Given the description of an element on the screen output the (x, y) to click on. 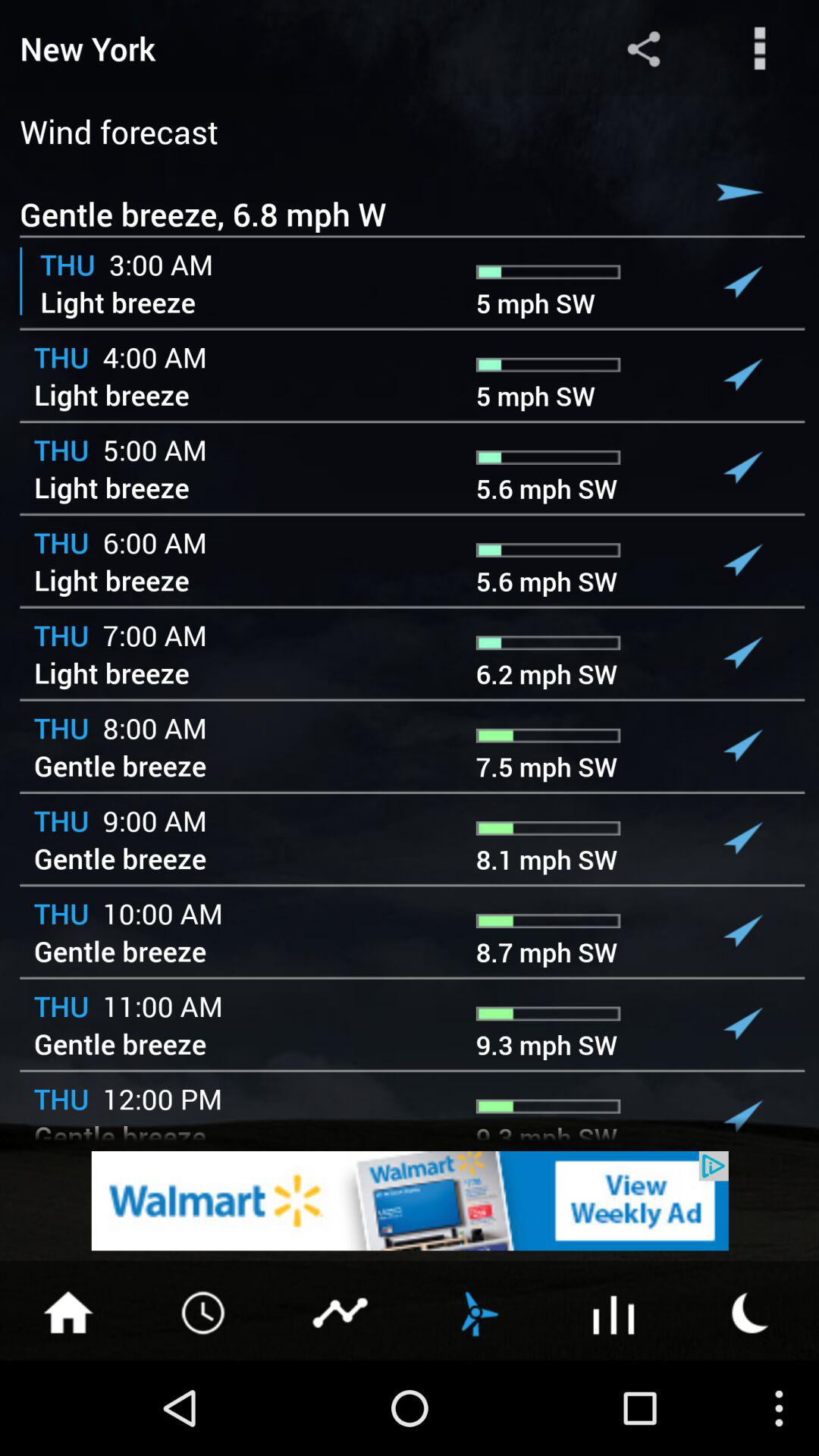
more options (759, 48)
